Given the description of an element on the screen output the (x, y) to click on. 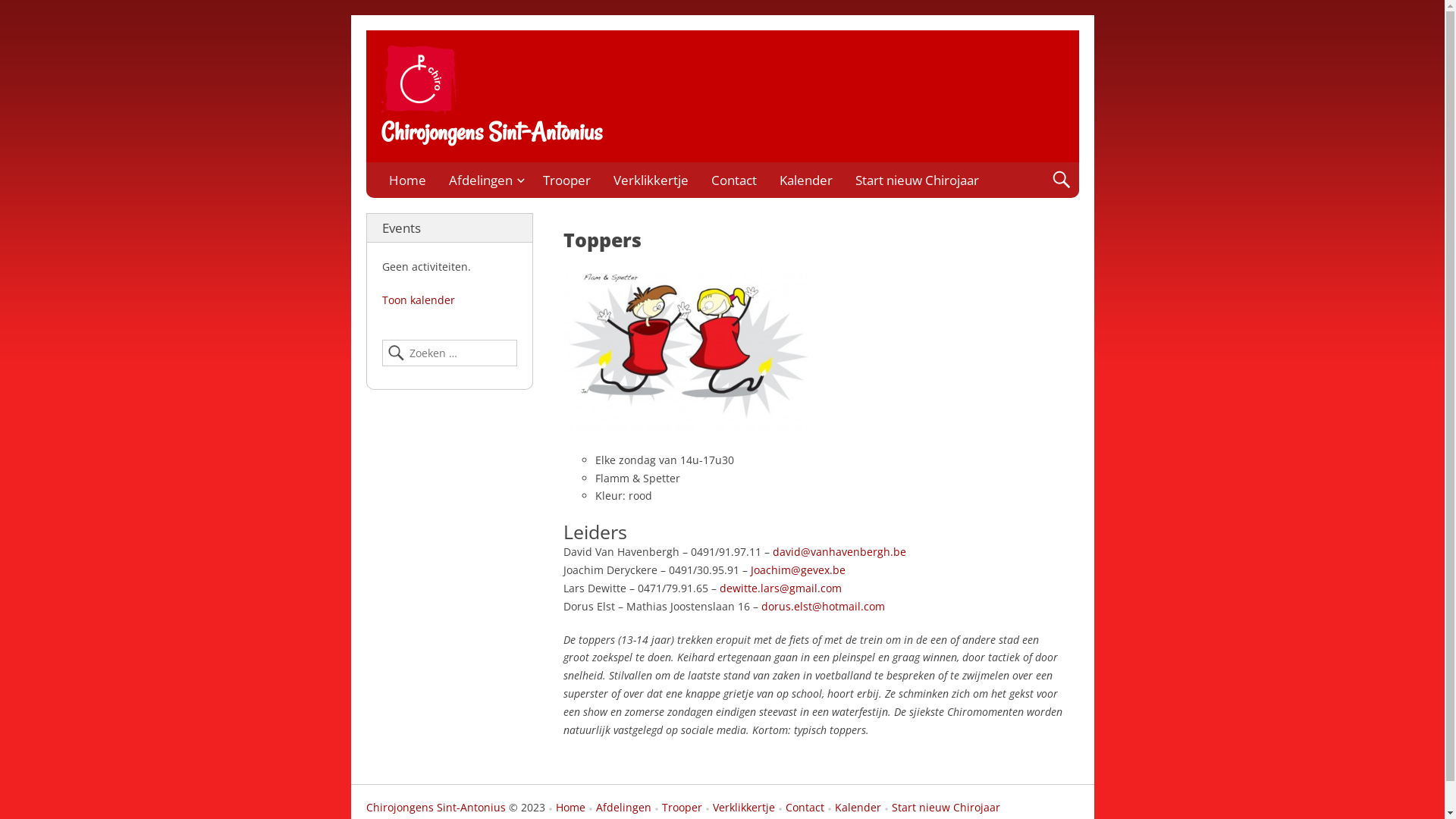
Toon kalender Element type: text (418, 299)
dorus.elst@hotmail.com Element type: text (822, 606)
Verklikkertje Element type: text (738, 807)
Start nieuw Chirojaar Element type: text (916, 179)
Joachim@gevex.be Element type: text (797, 569)
Contact Element type: text (799, 807)
david@vanhavenbergh.be Element type: text (838, 551)
dewitte.lars@gmail.com Element type: text (779, 587)
Chirojongens Sint-Antonius Element type: text (435, 807)
Trooper Element type: text (565, 179)
Kalender Element type: text (805, 179)
Contact Element type: text (733, 179)
Chirojongens Sint-Antonius Element type: text (490, 131)
Home Element type: text (564, 807)
Kalender Element type: text (851, 807)
Zoeken Element type: text (26, 12)
Verklikkertje Element type: text (650, 179)
Afdelingen Element type: text (483, 179)
Trooper Element type: text (675, 807)
Start nieuw Chirojaar Element type: text (940, 807)
Home Element type: text (407, 179)
Afdelingen Element type: text (618, 807)
